Given the description of an element on the screen output the (x, y) to click on. 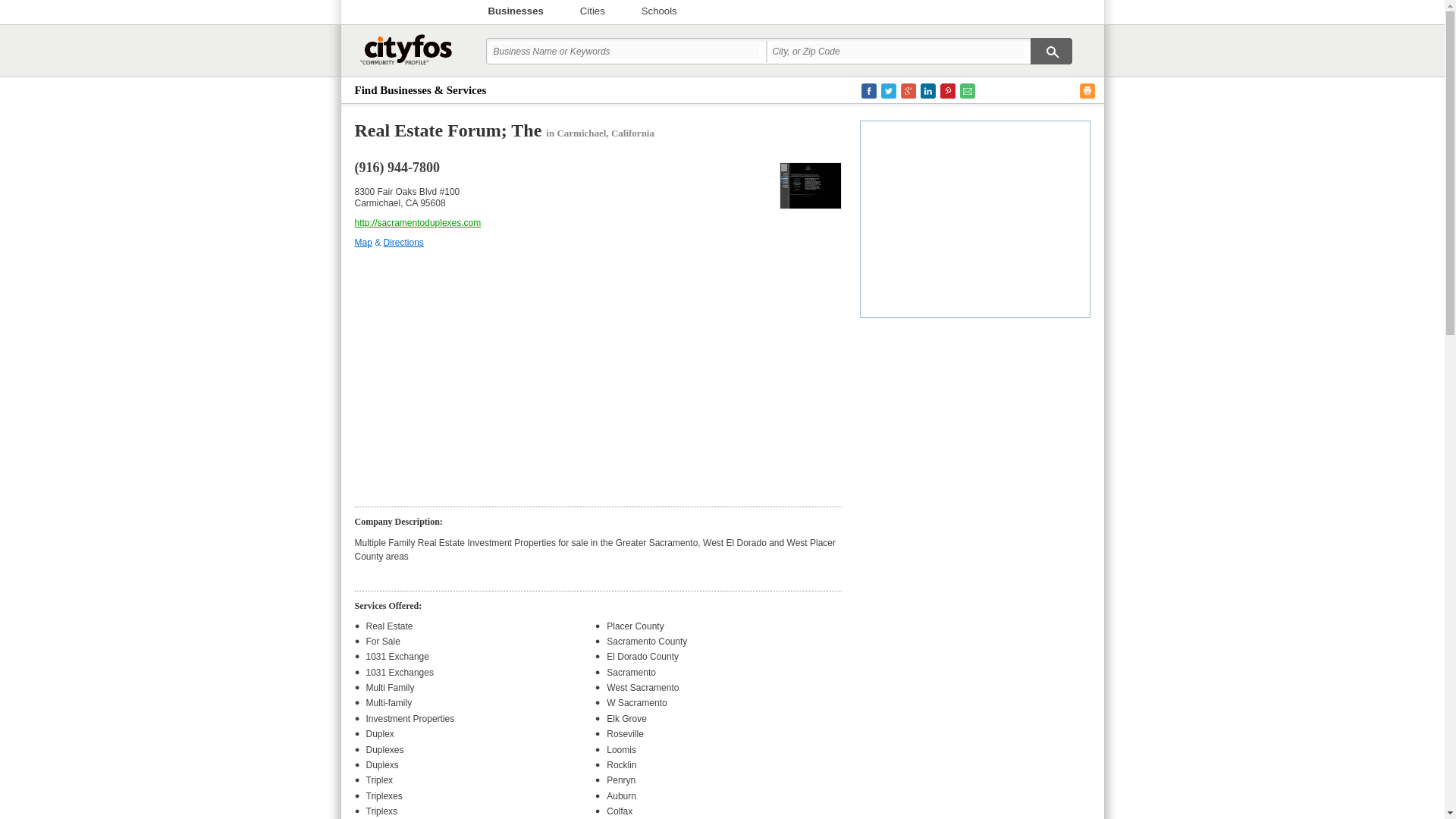
Directions (403, 242)
Advertisement (598, 372)
Map (363, 242)
Advertisement (975, 217)
Cities (592, 11)
Businesses (516, 11)
Share with Facebook (868, 90)
Share with LinkedIn (928, 90)
Print this page (1087, 90)
Real Estate Forum; The's Website (809, 185)
